Given the description of an element on the screen output the (x, y) to click on. 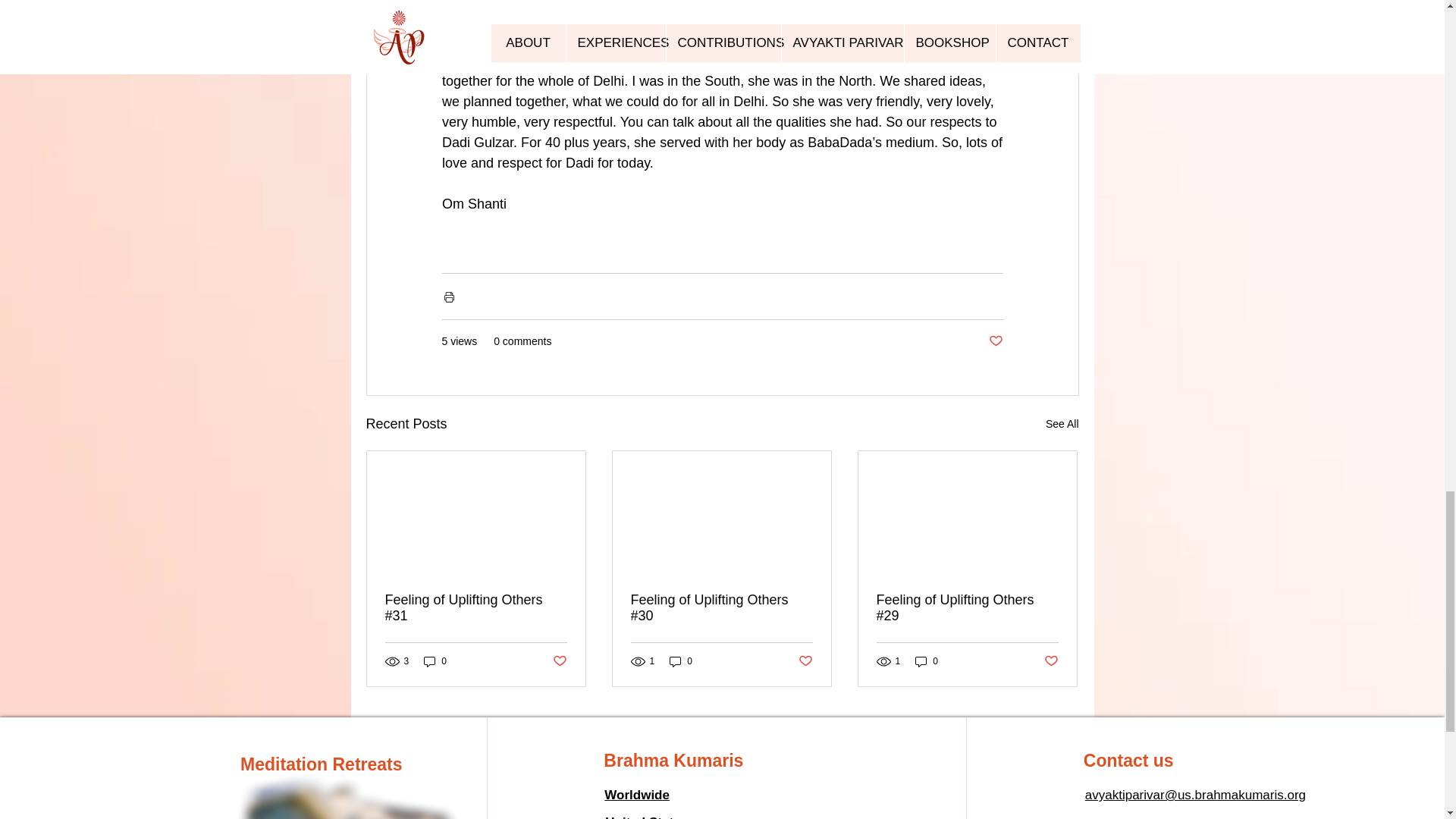
United States (646, 816)
Post not marked as liked (558, 661)
Post not marked as liked (804, 661)
See All (1061, 423)
Worldwide (636, 794)
Post not marked as liked (995, 341)
0 (926, 661)
0 (435, 661)
Post not marked as liked (1050, 661)
0 (681, 661)
